Given the description of an element on the screen output the (x, y) to click on. 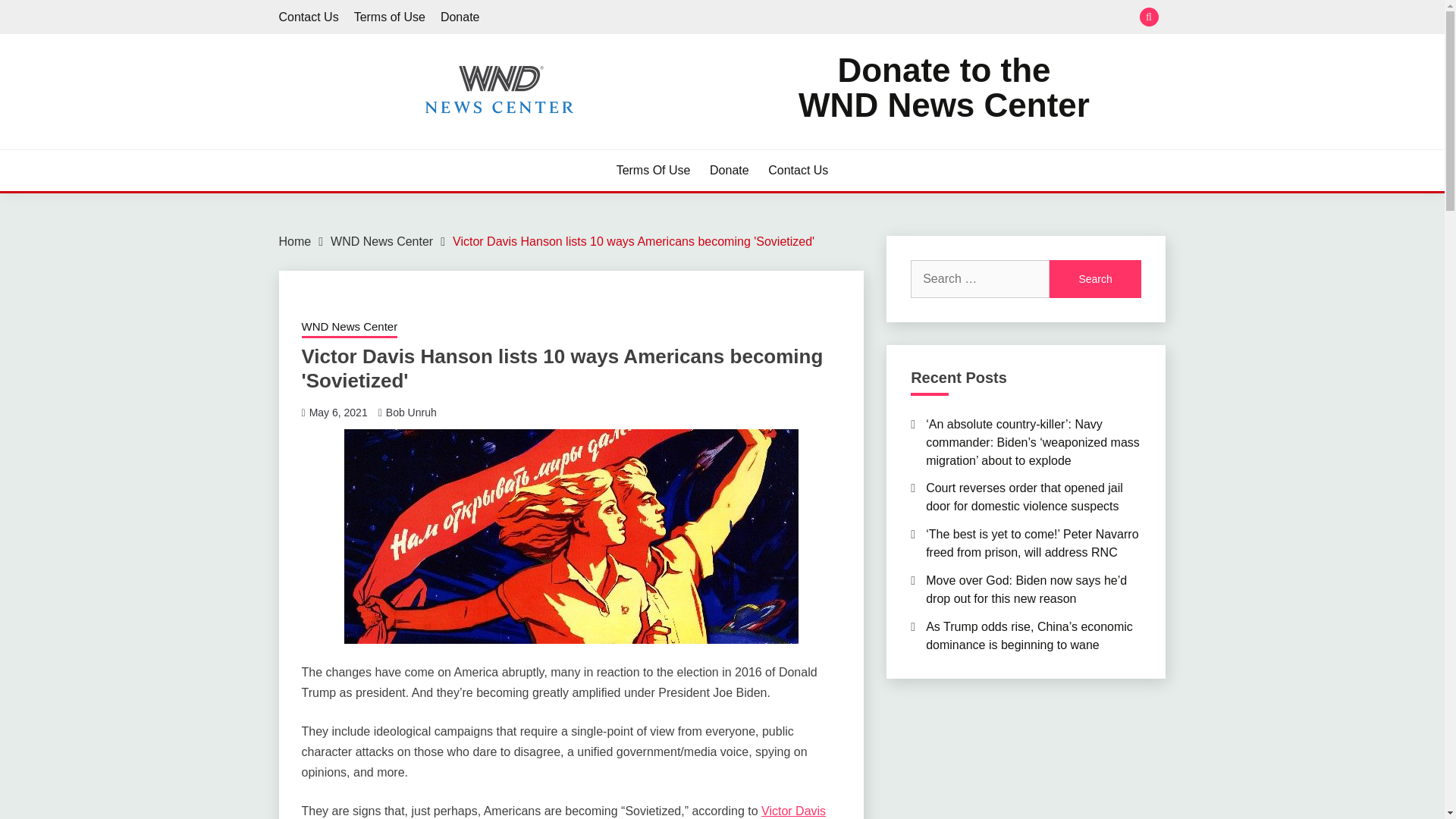
Search (1095, 279)
Terms Of Use (652, 170)
Home (295, 241)
WND News Center (381, 241)
Terms of Use (389, 16)
Search (832, 18)
Donate (729, 170)
Search (1095, 279)
Donate (460, 16)
Search (1095, 279)
Contact Us (798, 170)
Bob Unruh (410, 412)
Contact Us (943, 87)
